Given the description of an element on the screen output the (x, y) to click on. 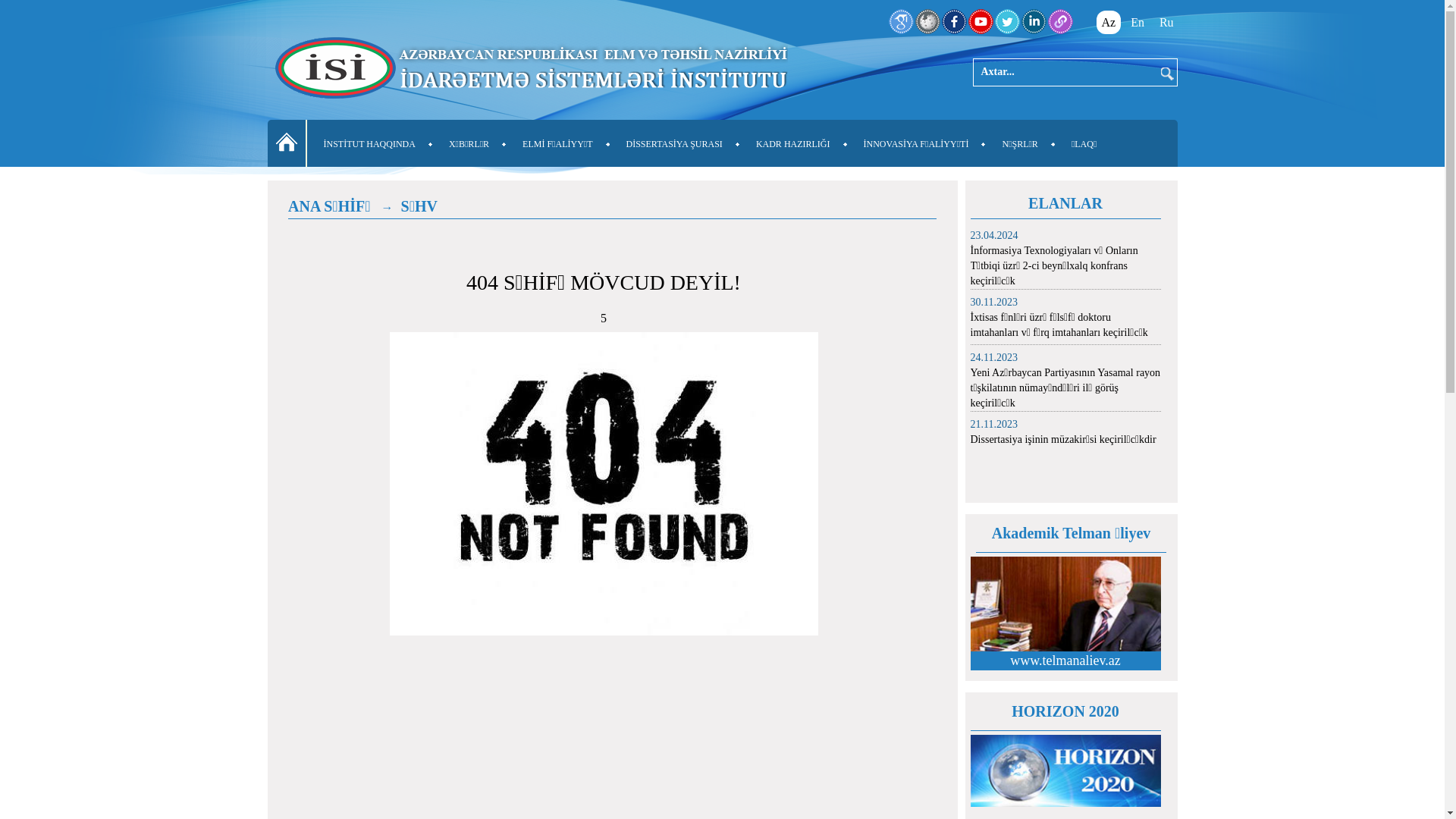
ELANLAR Element type: text (1065, 202)
HORIZON 2020 Element type: text (1065, 710)
www.telmanaliev.az Element type: text (1065, 660)
Ru Element type: text (1166, 22)
En Element type: text (1137, 22)
Az Element type: text (1108, 22)
